Given the description of an element on the screen output the (x, y) to click on. 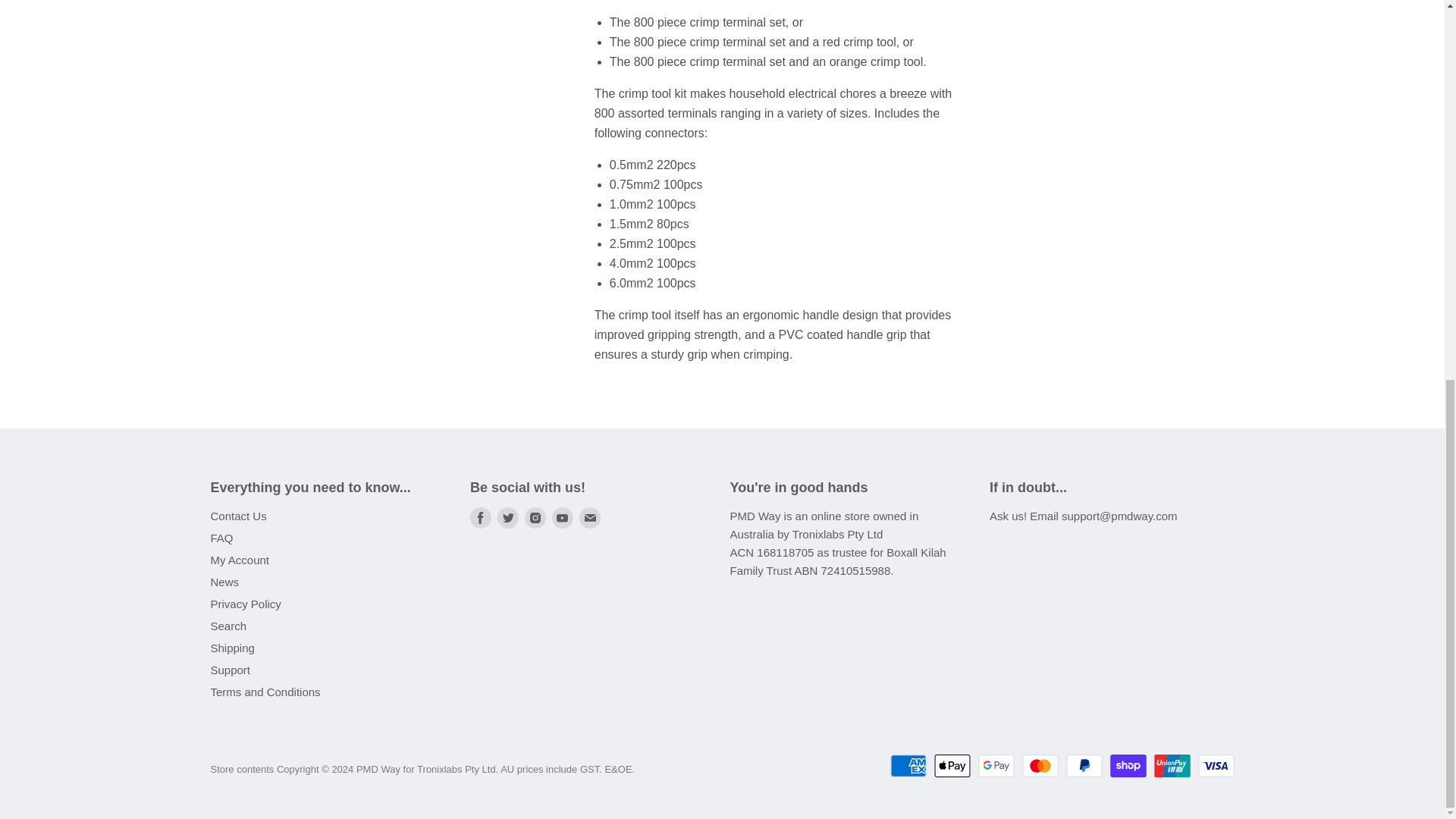
E-mail (590, 517)
Facebook (481, 517)
Twitter (508, 517)
Youtube (562, 517)
Instagram (534, 517)
